Given the description of an element on the screen output the (x, y) to click on. 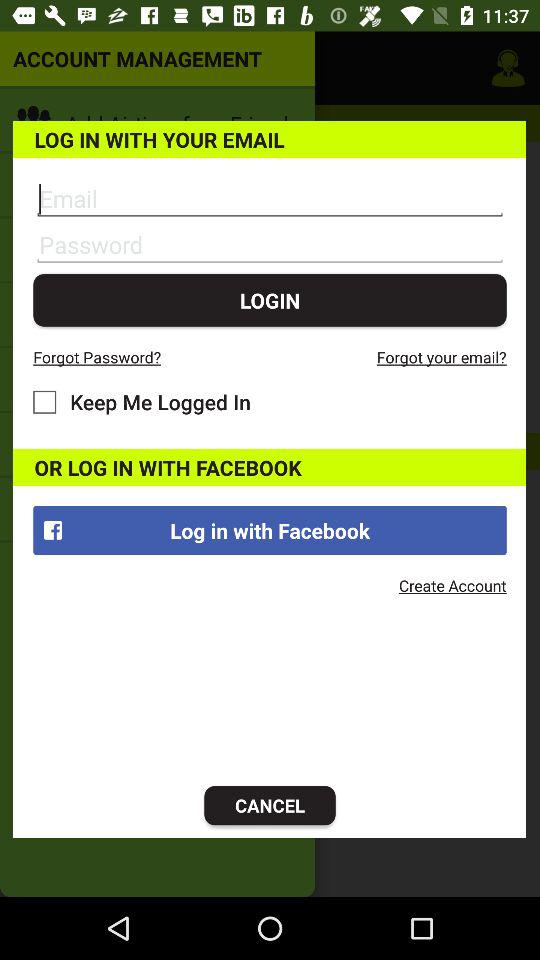
click the item above the or log in (141, 401)
